Given the description of an element on the screen output the (x, y) to click on. 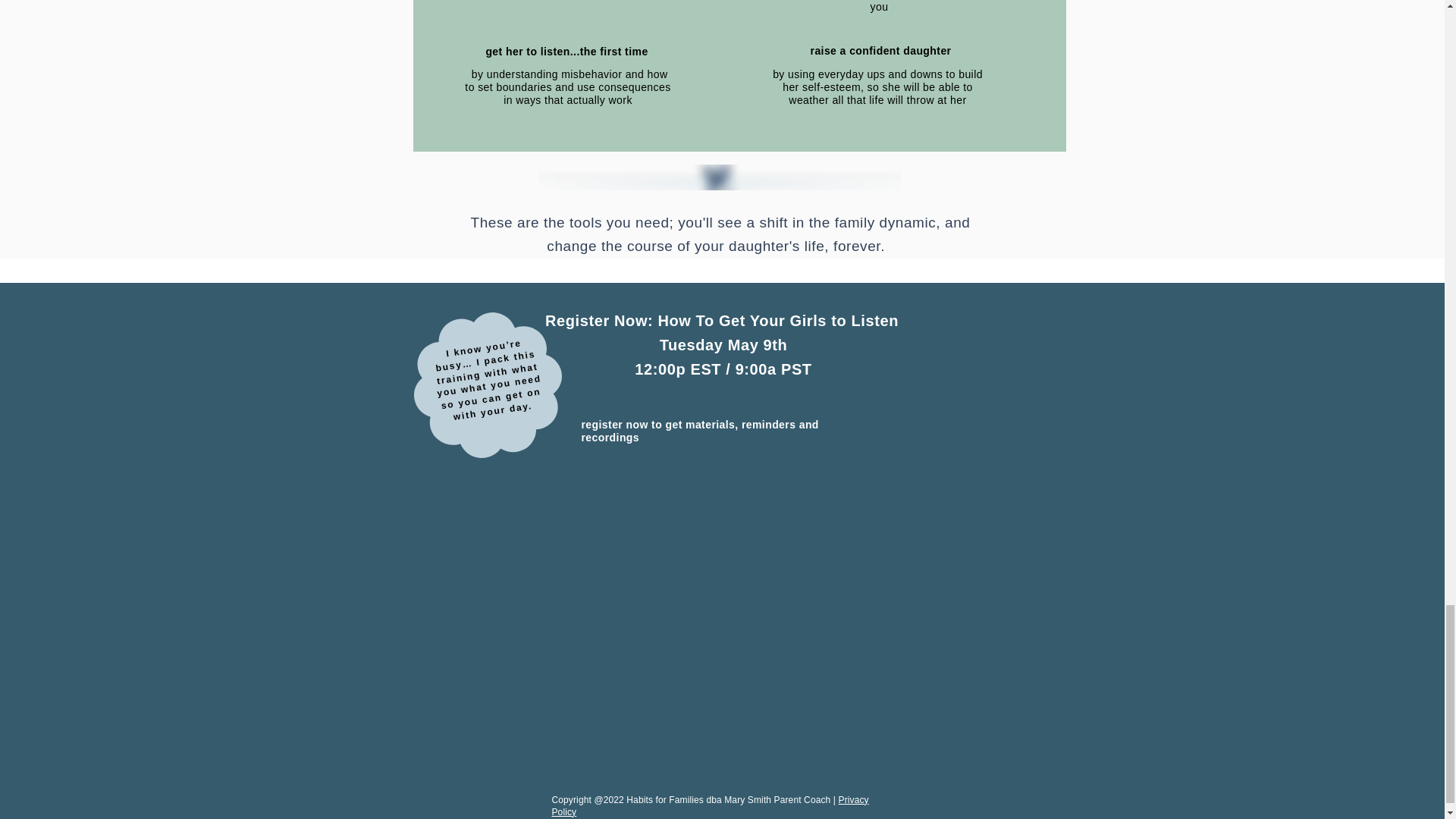
Privacy Policy (710, 805)
